Given the description of an element on the screen output the (x, y) to click on. 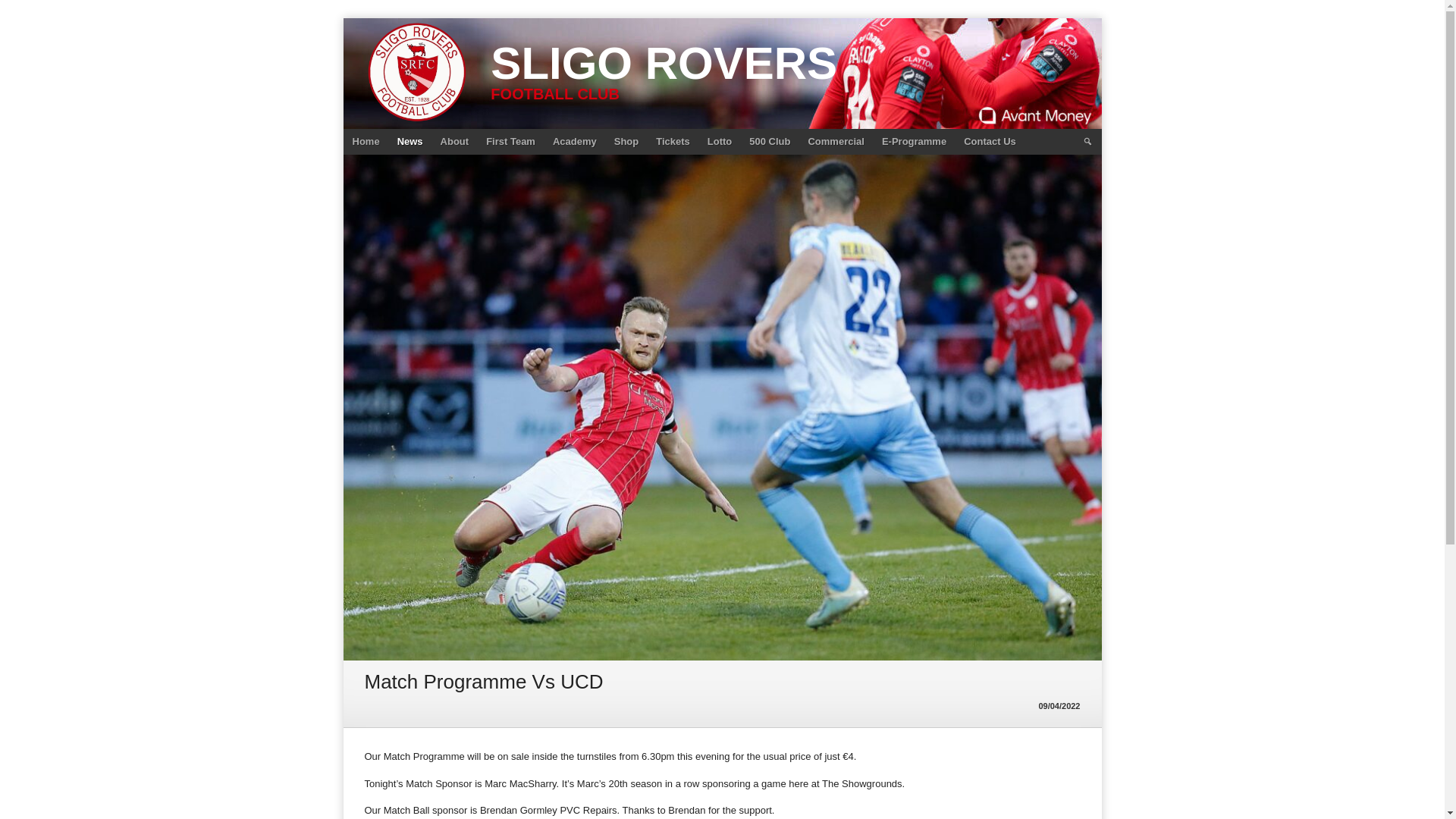
Academy (574, 141)
First Team (510, 141)
News (410, 141)
Home (365, 141)
Search (1088, 141)
SLIGO ROVERS (663, 62)
About (454, 141)
